Given the description of an element on the screen output the (x, y) to click on. 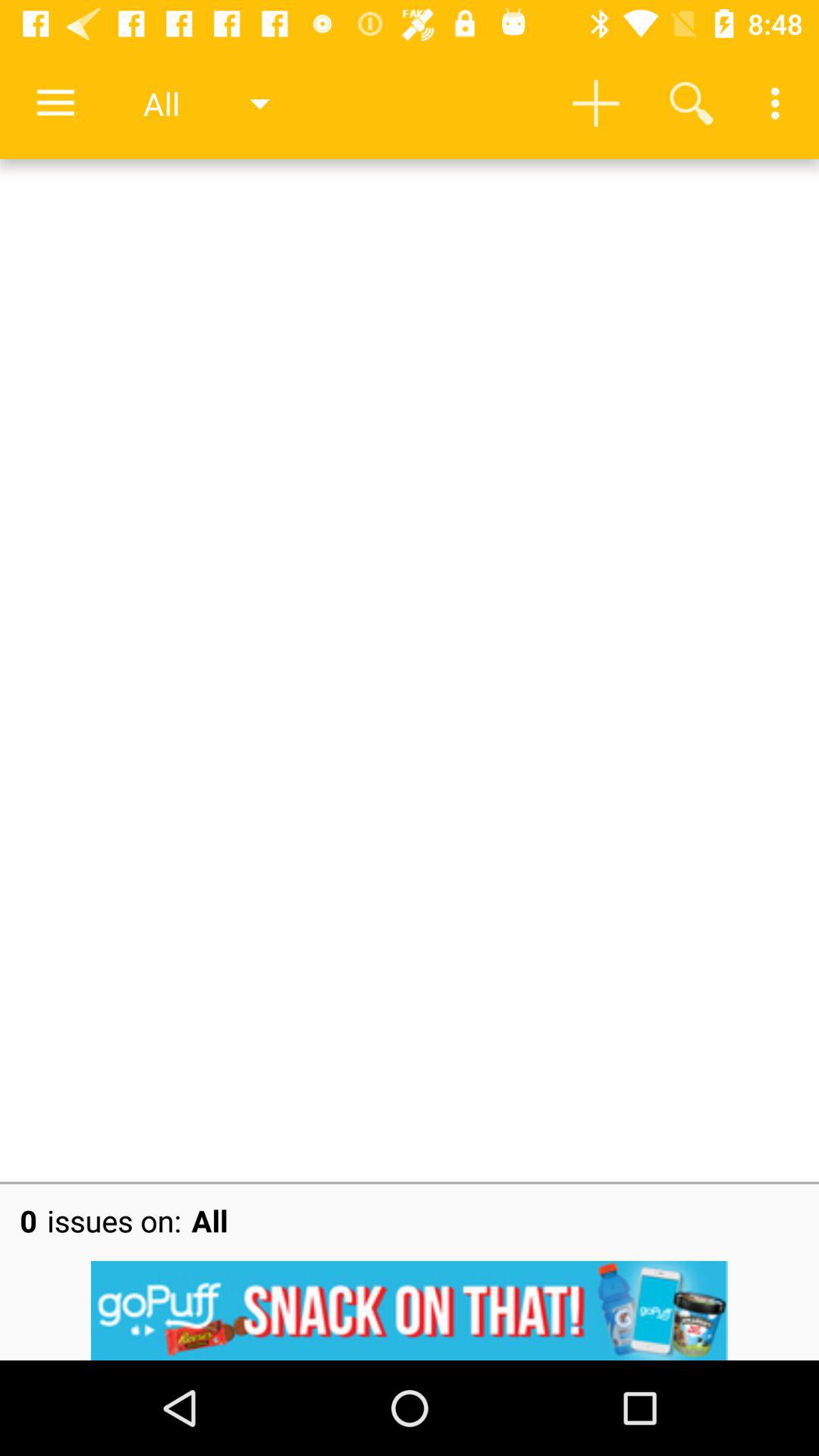
advertisement link image (409, 1310)
